Given the description of an element on the screen output the (x, y) to click on. 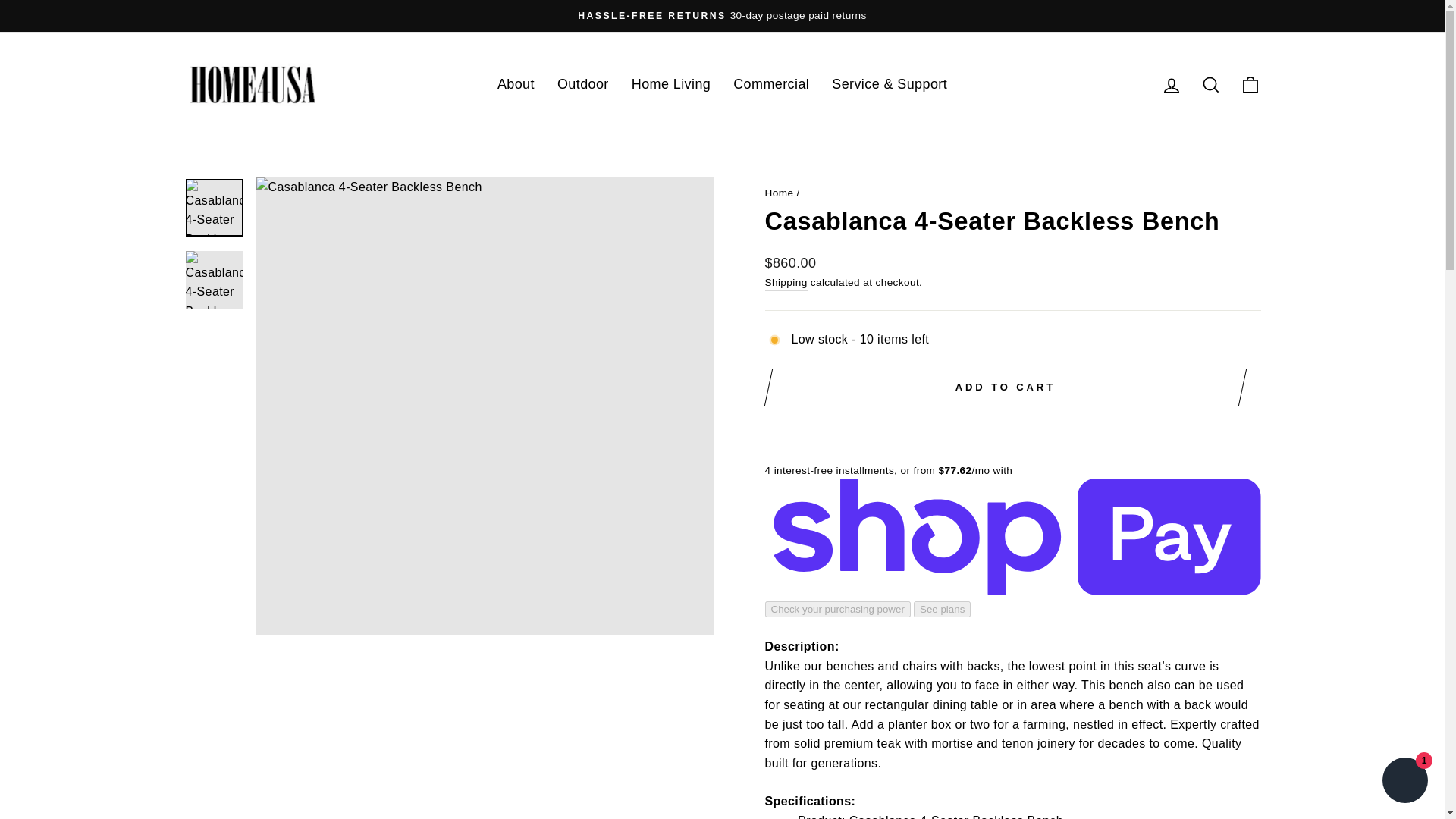
Shopify online store chat (1404, 781)
Back to the frontpage (778, 193)
